Given the description of an element on the screen output the (x, y) to click on. 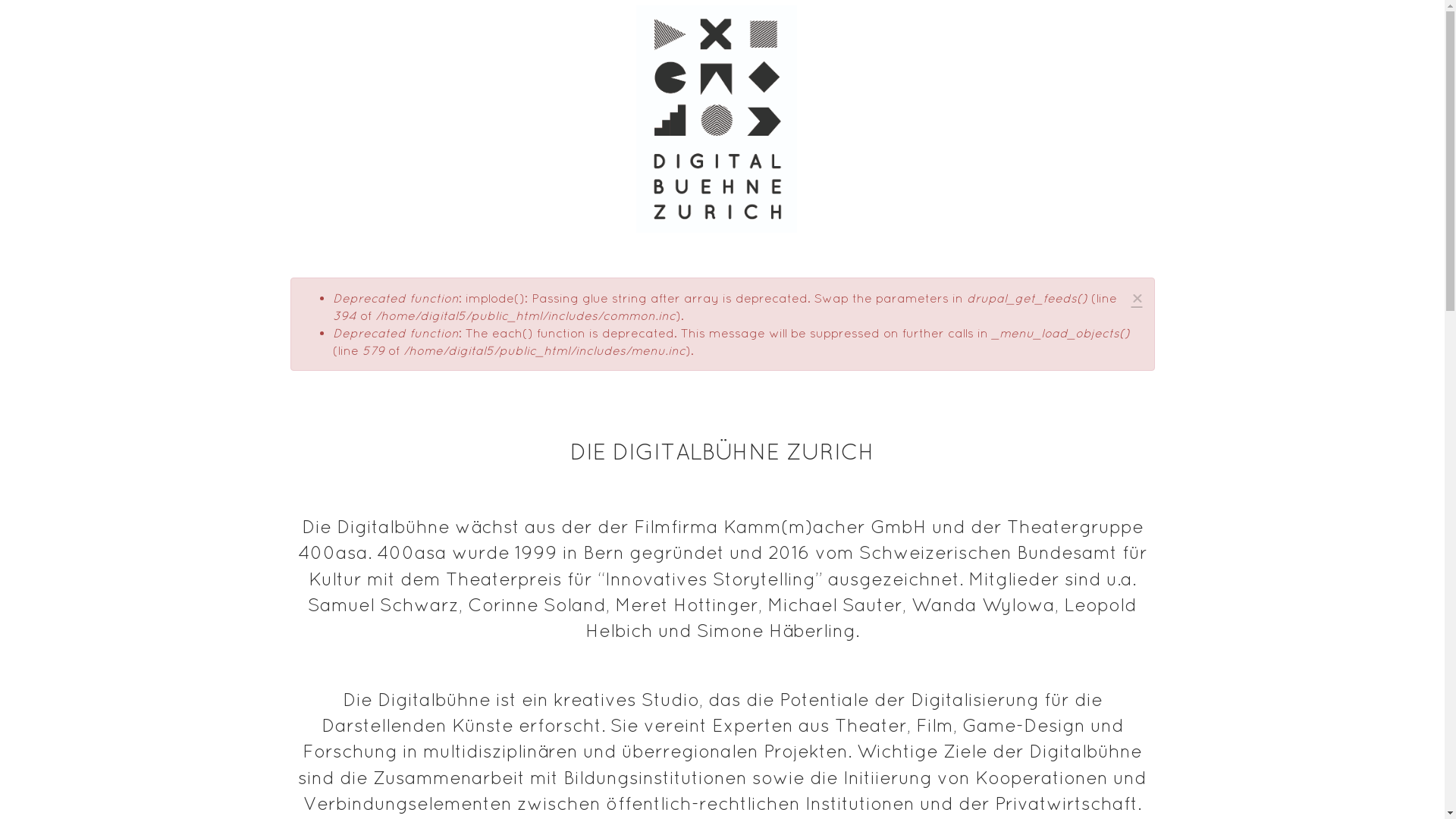
Home Element type: hover (721, 118)
Skip to main content Element type: text (0, 0)
